Given the description of an element on the screen output the (x, y) to click on. 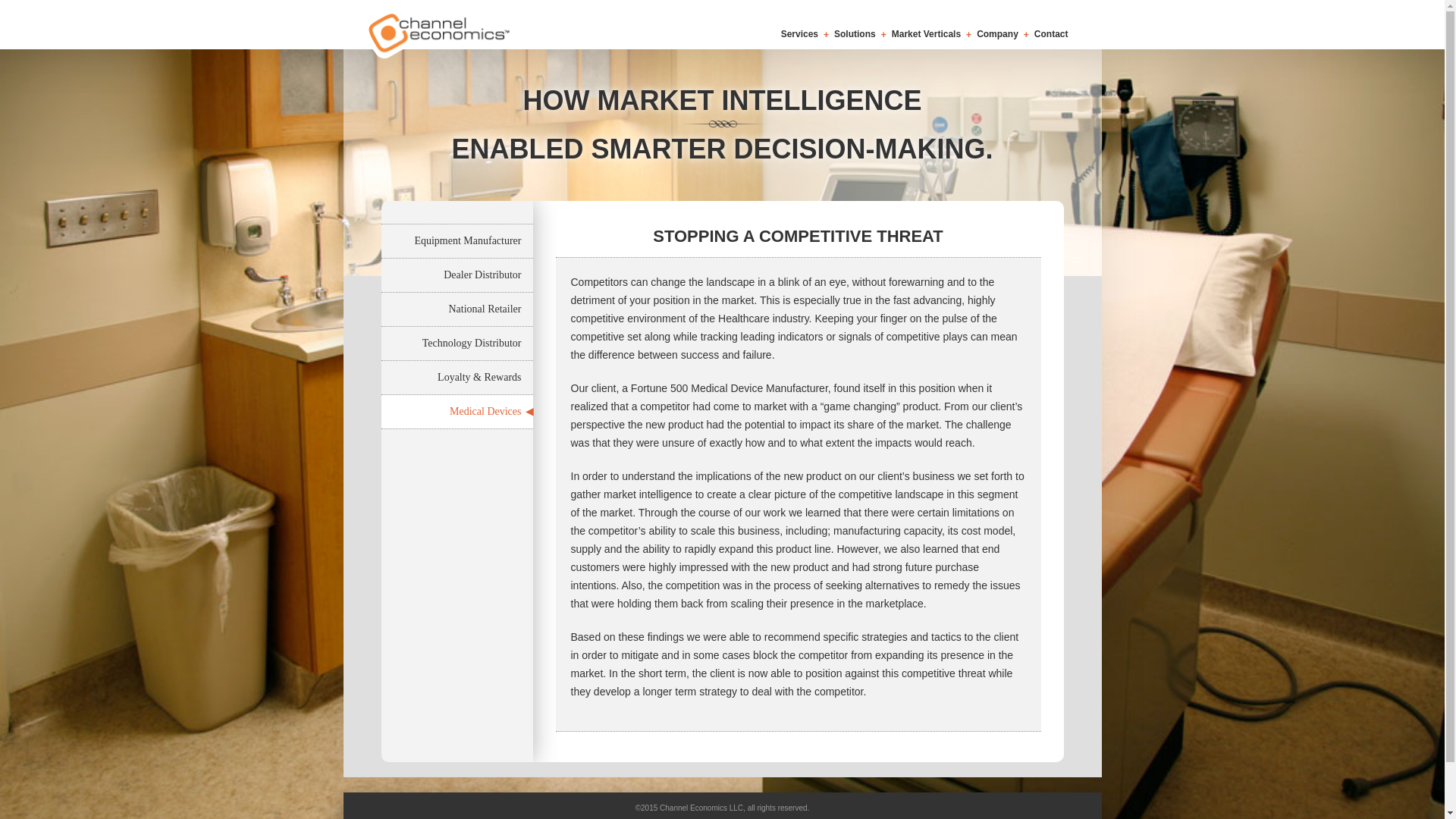
Medical Devices (456, 411)
Services (799, 33)
Dealer Distributor (456, 274)
Solutions (855, 33)
National Retailer (456, 308)
Market Verticals (925, 33)
Company (996, 33)
Contact (1050, 33)
Equipment Manufacturer (456, 240)
Technology Distributor (456, 343)
